Given the description of an element on the screen output the (x, y) to click on. 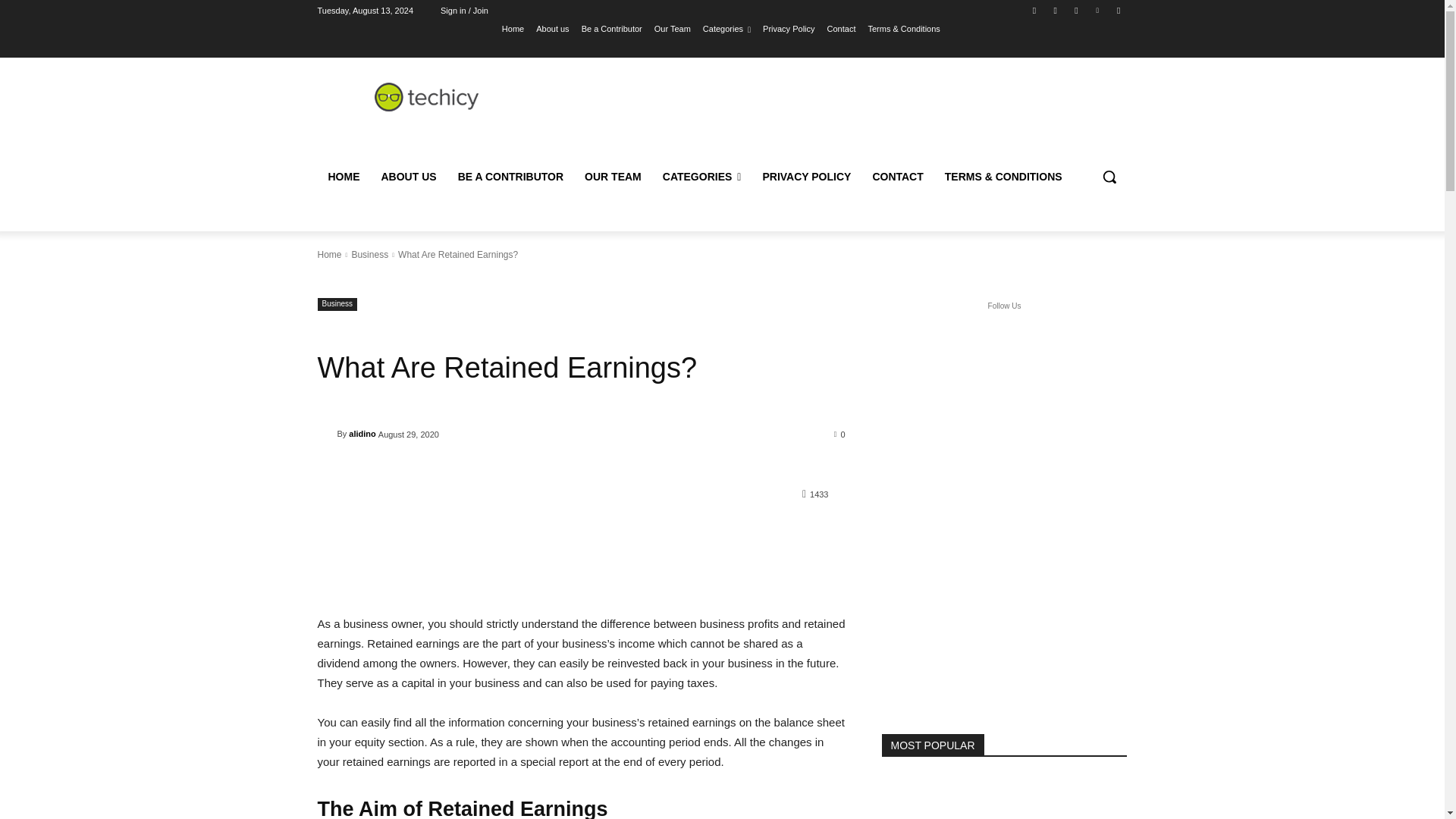
Home (513, 28)
View all posts in Business (369, 254)
Twitter (1075, 9)
Vimeo (1097, 9)
Youtube (1117, 9)
Facebook (1034, 9)
alidino (326, 433)
Our Team (671, 28)
Instagram (1055, 9)
Categories (727, 28)
